Given the description of an element on the screen output the (x, y) to click on. 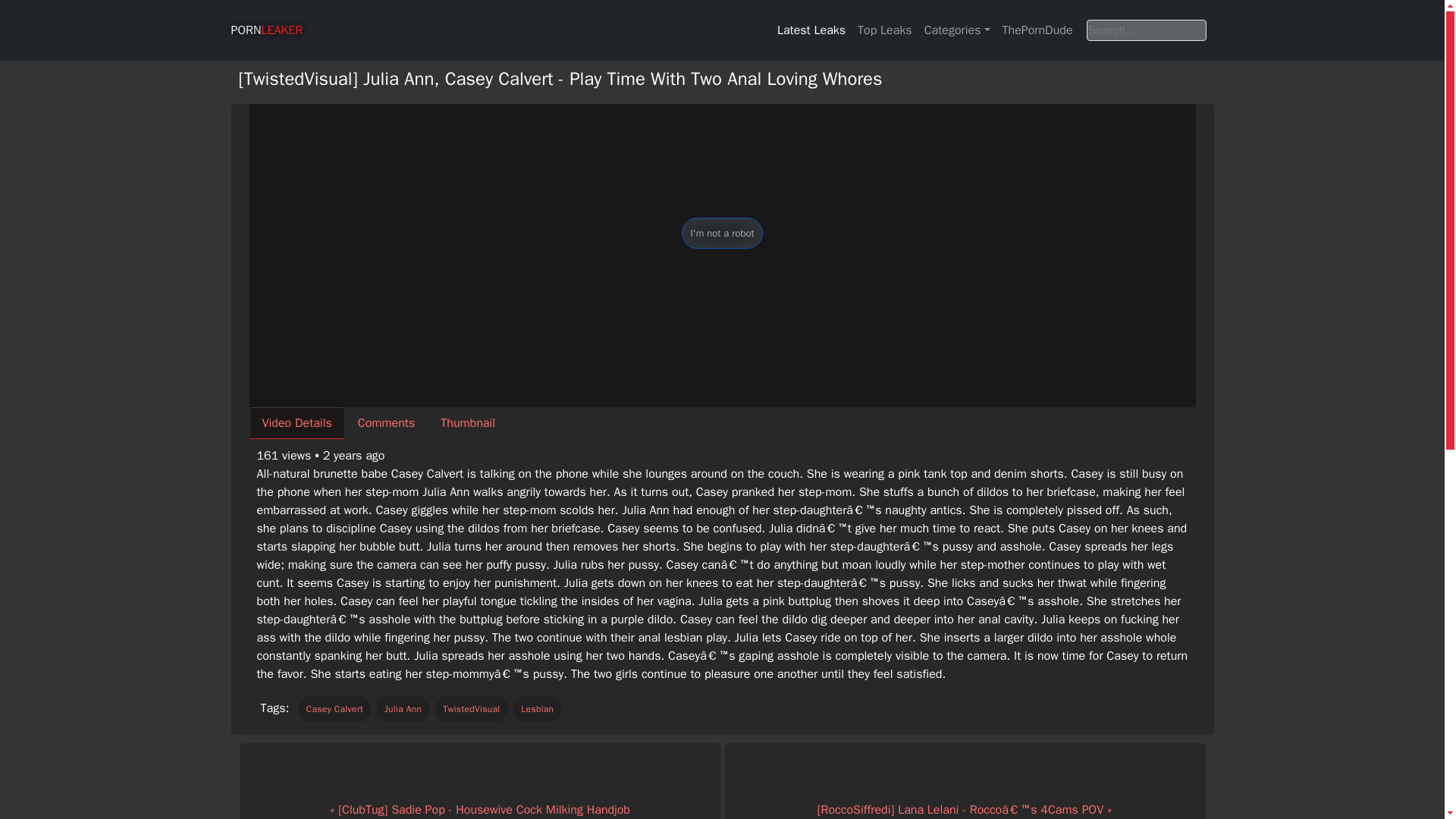
Home (266, 30)
Lesbian (536, 708)
Latest Leaks (811, 30)
Thumbnail (468, 422)
ThePornDude (1036, 30)
ThePornDude (1036, 30)
Video Details (295, 422)
Casey Calvert (334, 708)
TwistedVisual (470, 708)
Categories (956, 30)
